Given the description of an element on the screen output the (x, y) to click on. 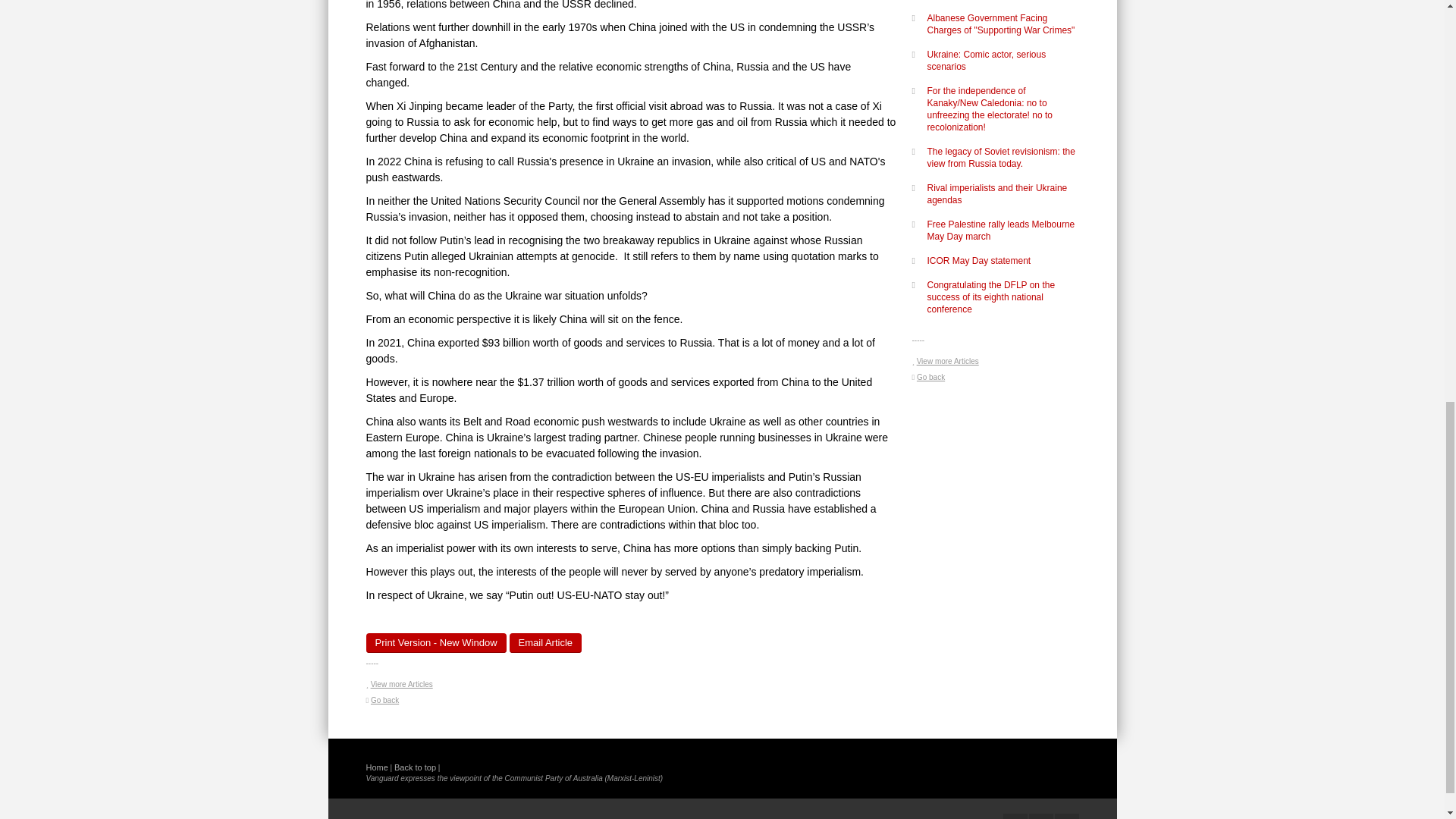
Share by Email (545, 642)
